Given the description of an element on the screen output the (x, y) to click on. 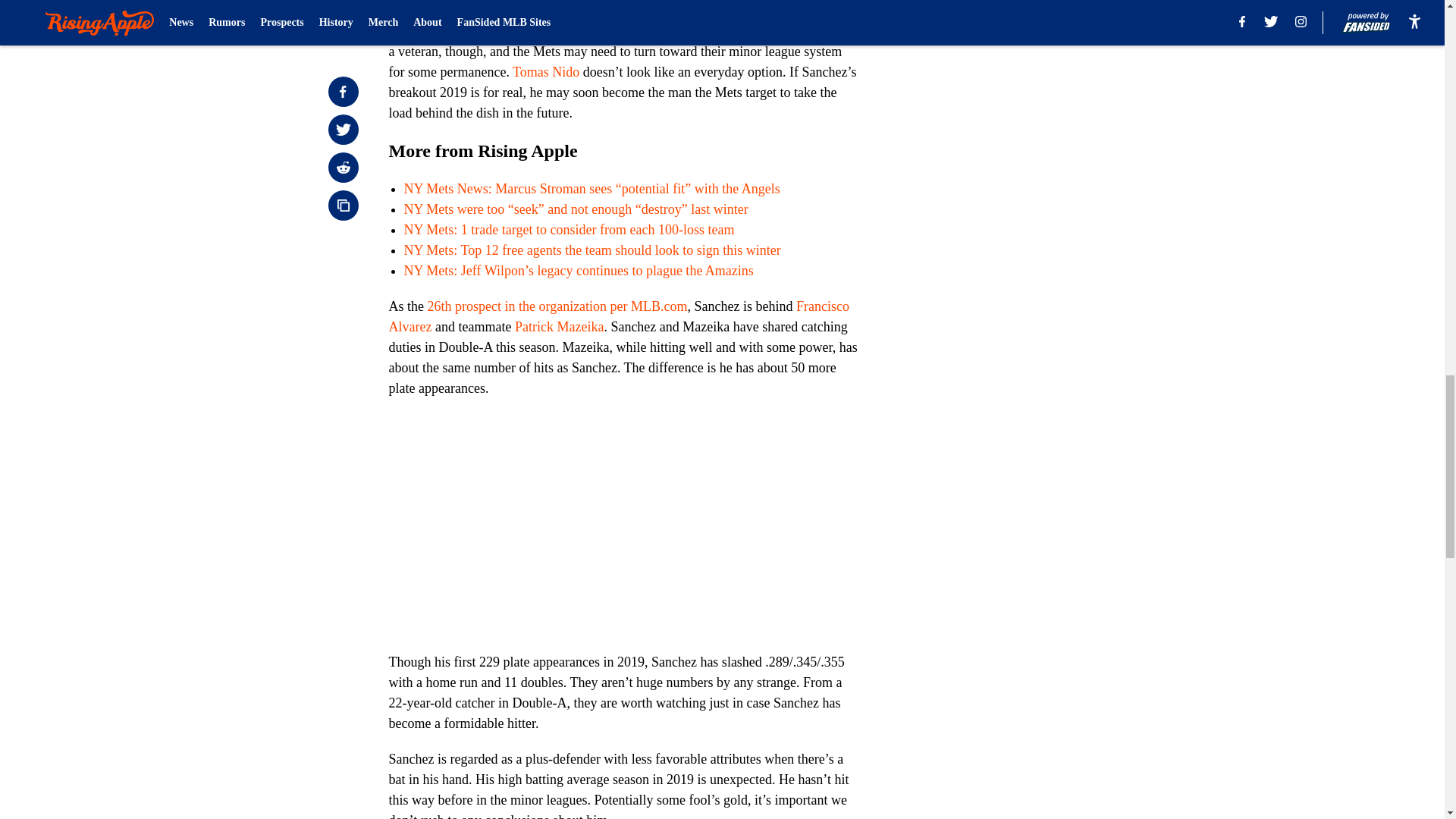
26th prospect in the organization per MLB.com (557, 305)
NY Mets: 1 trade target to consider from each 100-loss team (568, 229)
Wilson Ramos (490, 30)
Francisco Alvarez (618, 316)
Patrick Mazeika (559, 326)
Tomas Nido (545, 71)
